Given the description of an element on the screen output the (x, y) to click on. 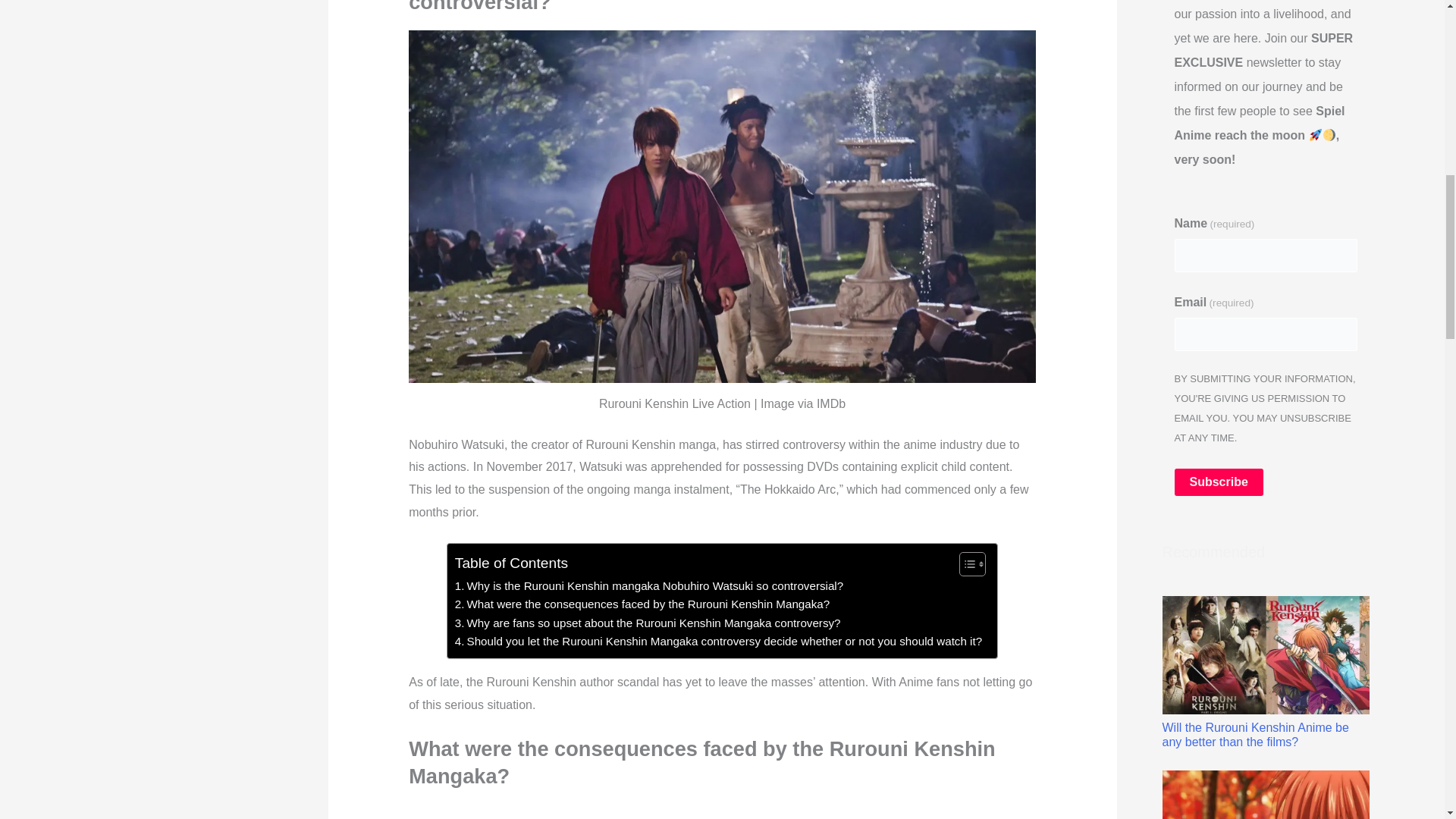
Rurouni Kenshin TV Anime 2nd Cour: What will it be about? (1264, 794)
Will the Rurouni Kenshin Anime be any better than the films? (1264, 672)
Subscribe (1217, 482)
